Given the description of an element on the screen output the (x, y) to click on. 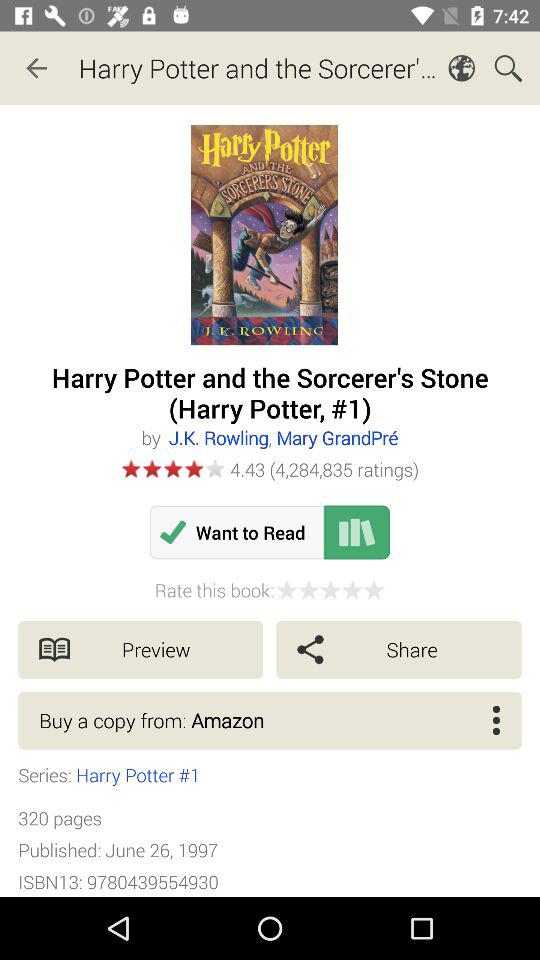
press the item below the harry potter and item (282, 437)
